Given the description of an element on the screen output the (x, y) to click on. 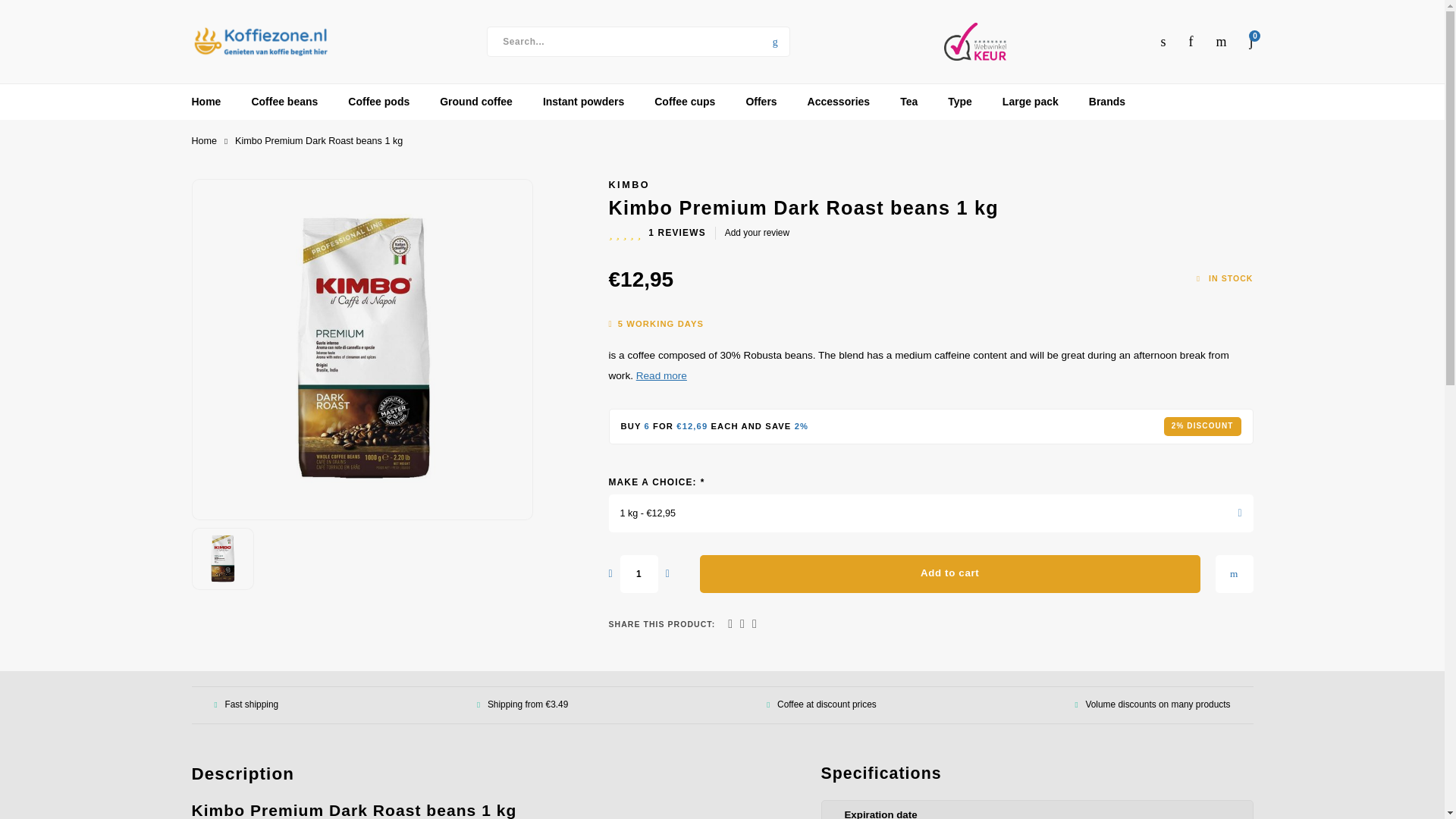
Add to cart (949, 573)
Add to wishlist (1233, 573)
Search (775, 41)
1 (639, 573)
Home (203, 141)
Kimbo Kimbo Premium Dark Roast beans 1 kg (361, 349)
Kimbo Kimbo Premium Dark Roast beans 1 kg (222, 558)
Webwinkel keur (974, 41)
